Given the description of an element on the screen output the (x, y) to click on. 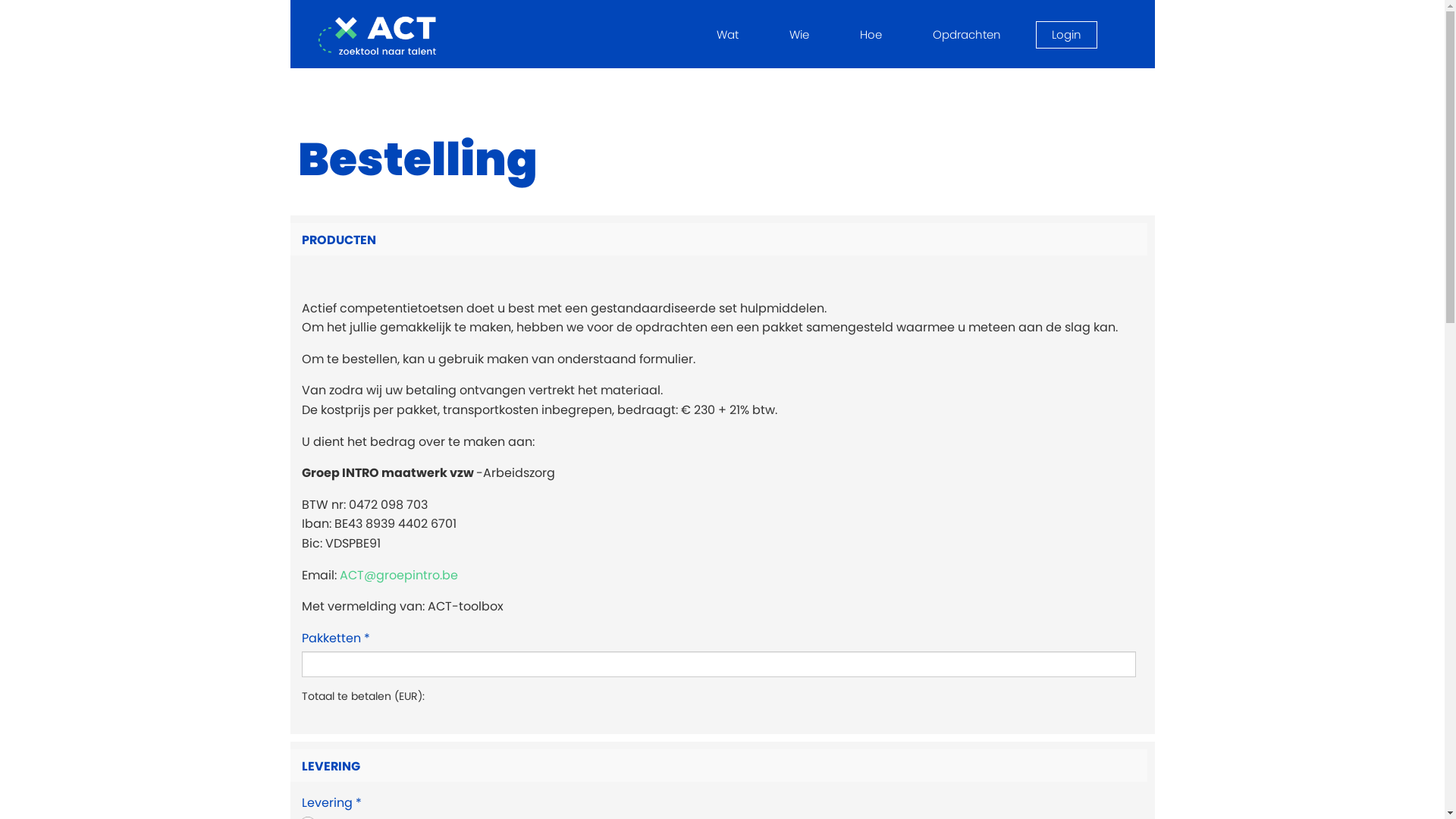
Login Element type: text (1066, 34)
Hoe Element type: text (870, 34)
Overslaan en naar de inhoud gaan Element type: text (0, 0)
Wie Element type: text (799, 34)
Wat Element type: text (727, 34)
ACT@groepintro.be Element type: text (398, 574)
Home Element type: hover (382, 35)
Opdrachten Element type: text (966, 34)
